Given the description of an element on the screen output the (x, y) to click on. 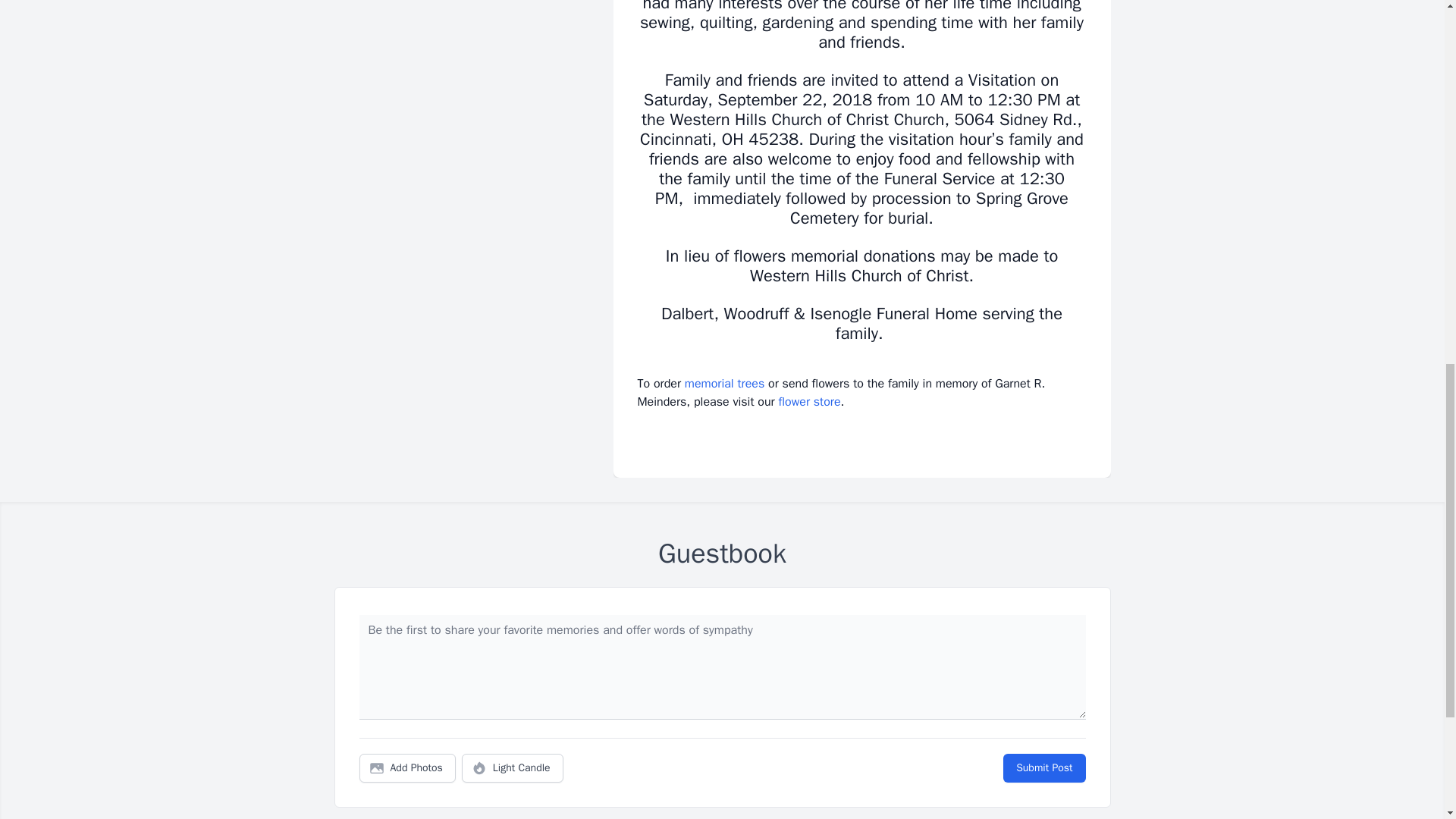
Light Candle (512, 767)
memorial trees (724, 383)
flower store (808, 401)
Submit Post (1043, 767)
Add Photos (407, 767)
